Given the description of an element on the screen output the (x, y) to click on. 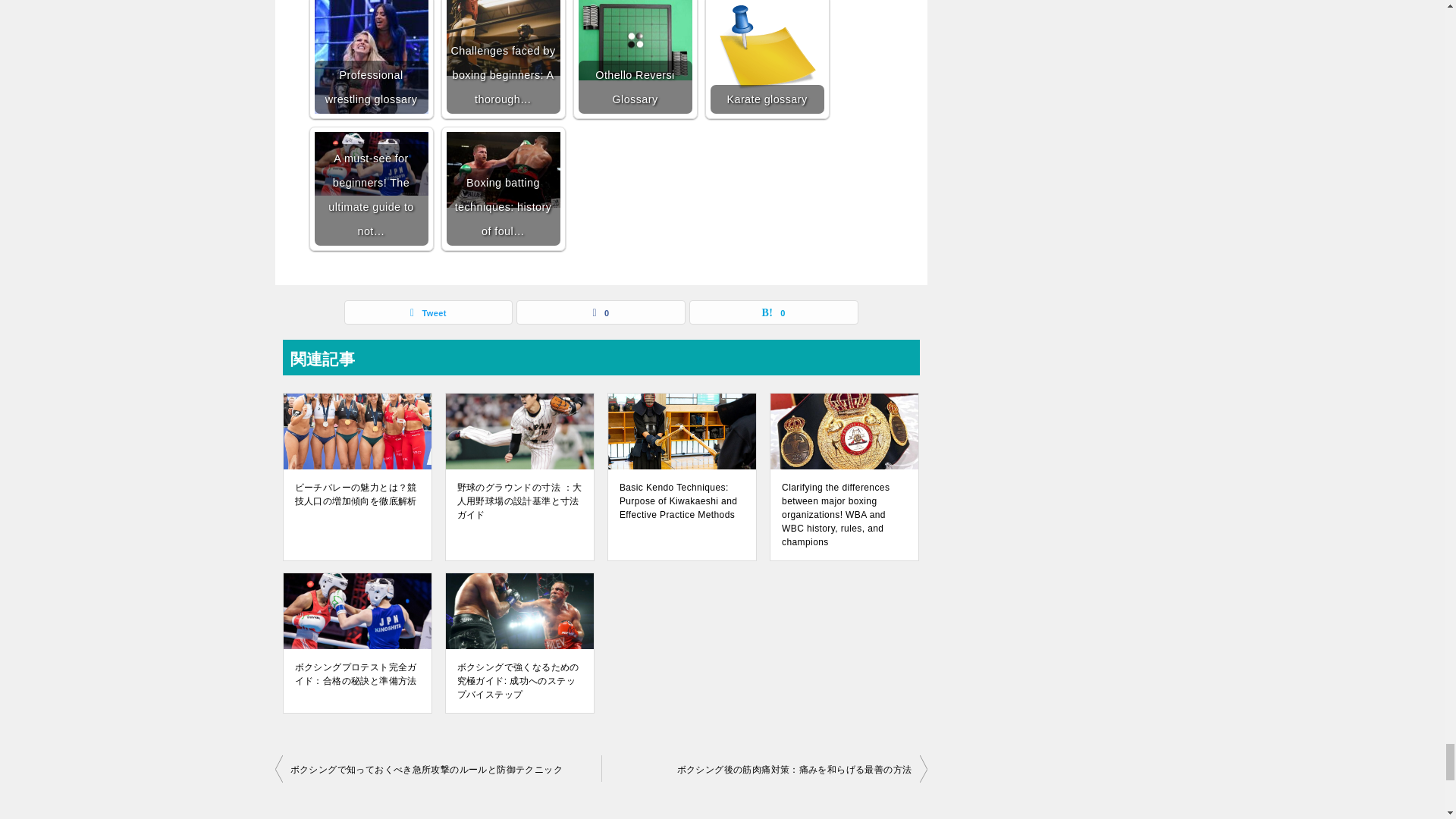
Karate glossary (767, 56)
Professional wrestling glossary (371, 56)
Othello Reversi Glossary (634, 40)
